Given the description of an element on the screen output the (x, y) to click on. 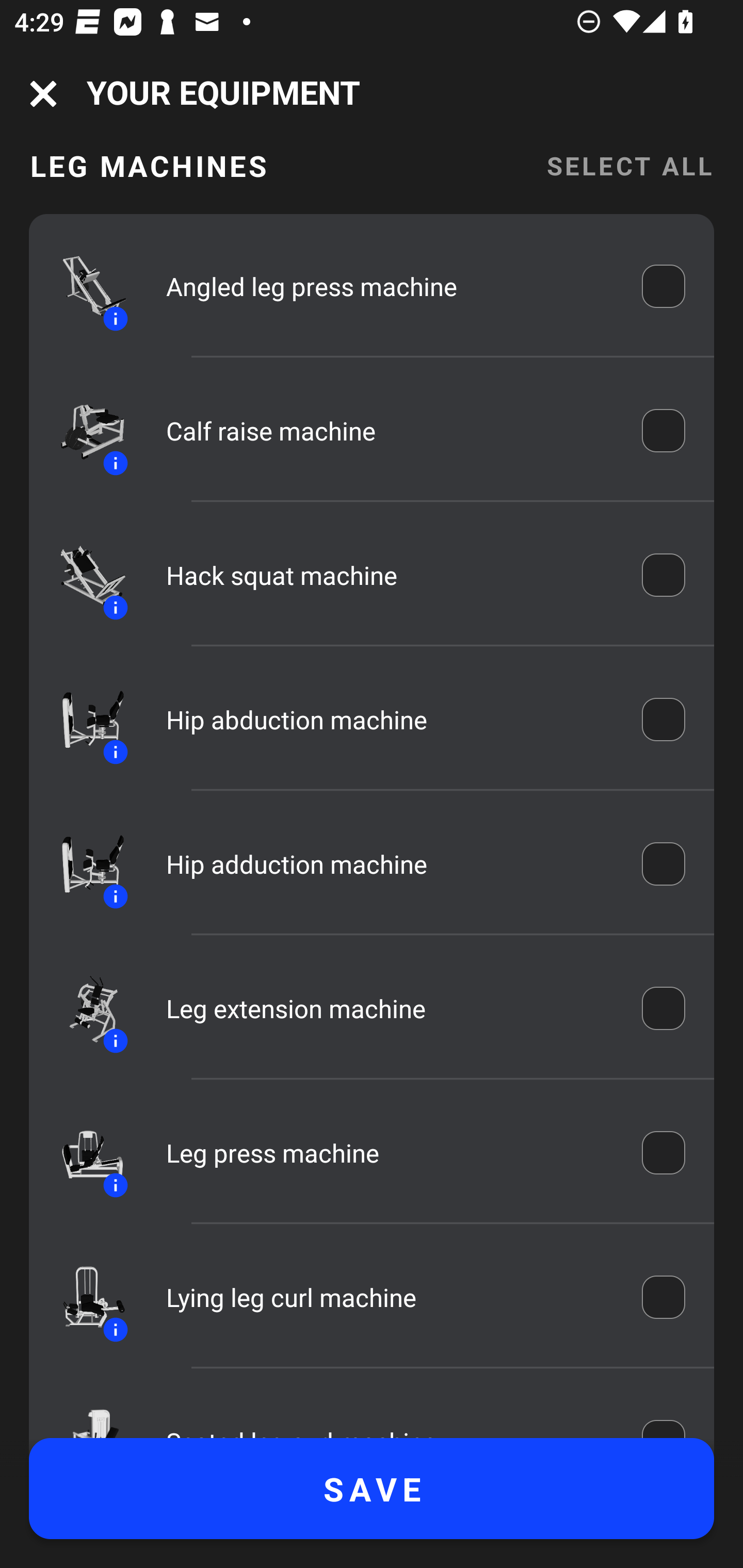
Navigation icon (43, 93)
SELECT ALL (629, 176)
Equipment icon Information icon (82, 286)
Angled leg press machine (389, 286)
Equipment icon Information icon (82, 430)
Calf raise machine (389, 430)
Equipment icon Information icon (82, 574)
Hack squat machine (389, 574)
Equipment icon Information icon (82, 718)
Hip abduction machine (389, 719)
Equipment icon Information icon (82, 863)
Hip adduction machine (389, 863)
Equipment icon Information icon (82, 1008)
Leg extension machine (389, 1008)
Equipment icon Information icon (82, 1153)
Leg press machine (389, 1153)
Equipment icon Information icon (82, 1297)
Lying leg curl machine (389, 1297)
SAVE (371, 1488)
